Given the description of an element on the screen output the (x, y) to click on. 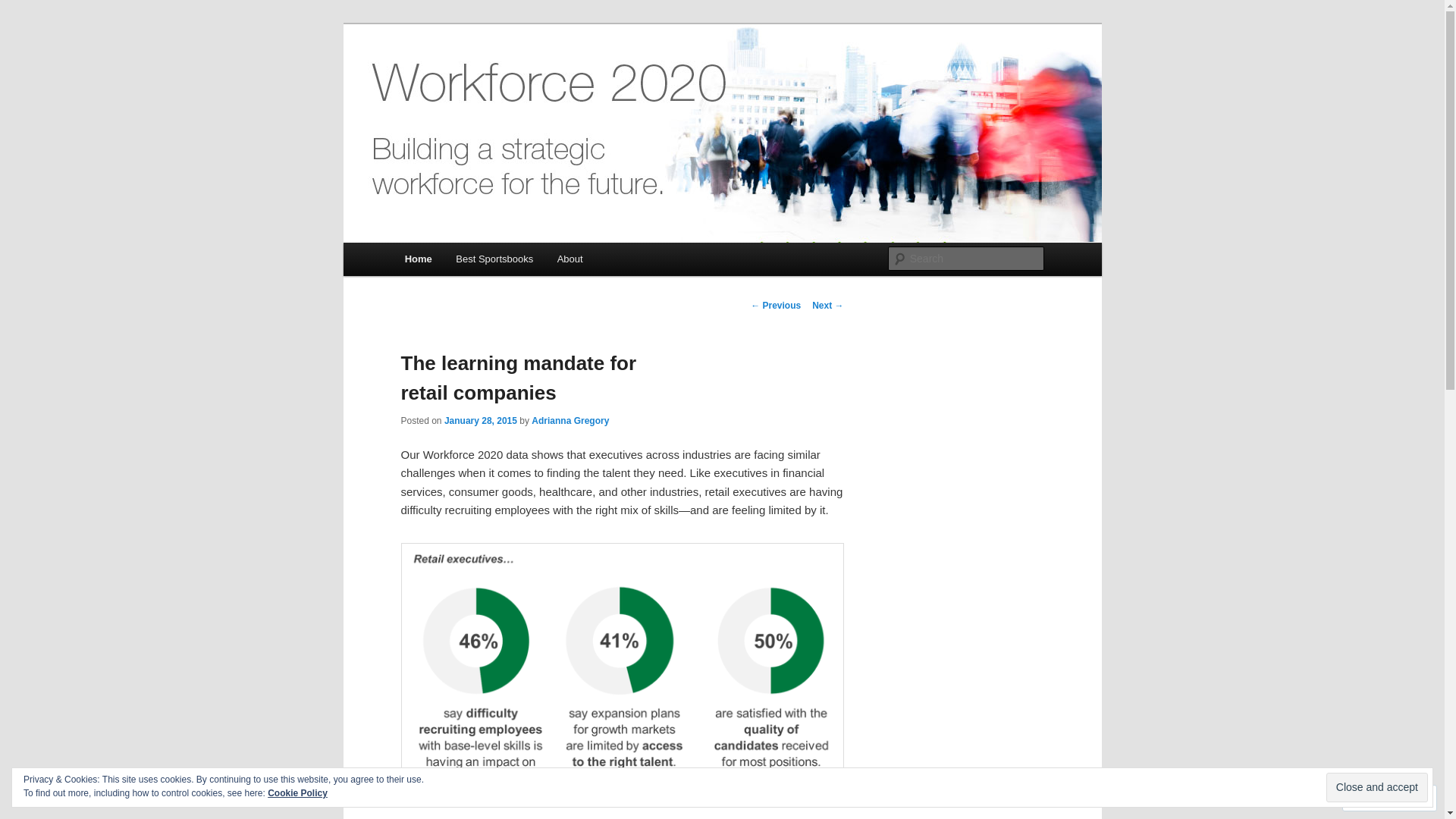
About (569, 258)
Adrianna Gregory (569, 420)
January 28, 2015 (480, 420)
Search (24, 8)
View all posts by Adrianna Gregory (569, 420)
9:59 am (480, 420)
Home (418, 258)
Close and accept (1377, 787)
Best Sportsbooks (494, 258)
Workforce 2020 (484, 78)
